Given the description of an element on the screen output the (x, y) to click on. 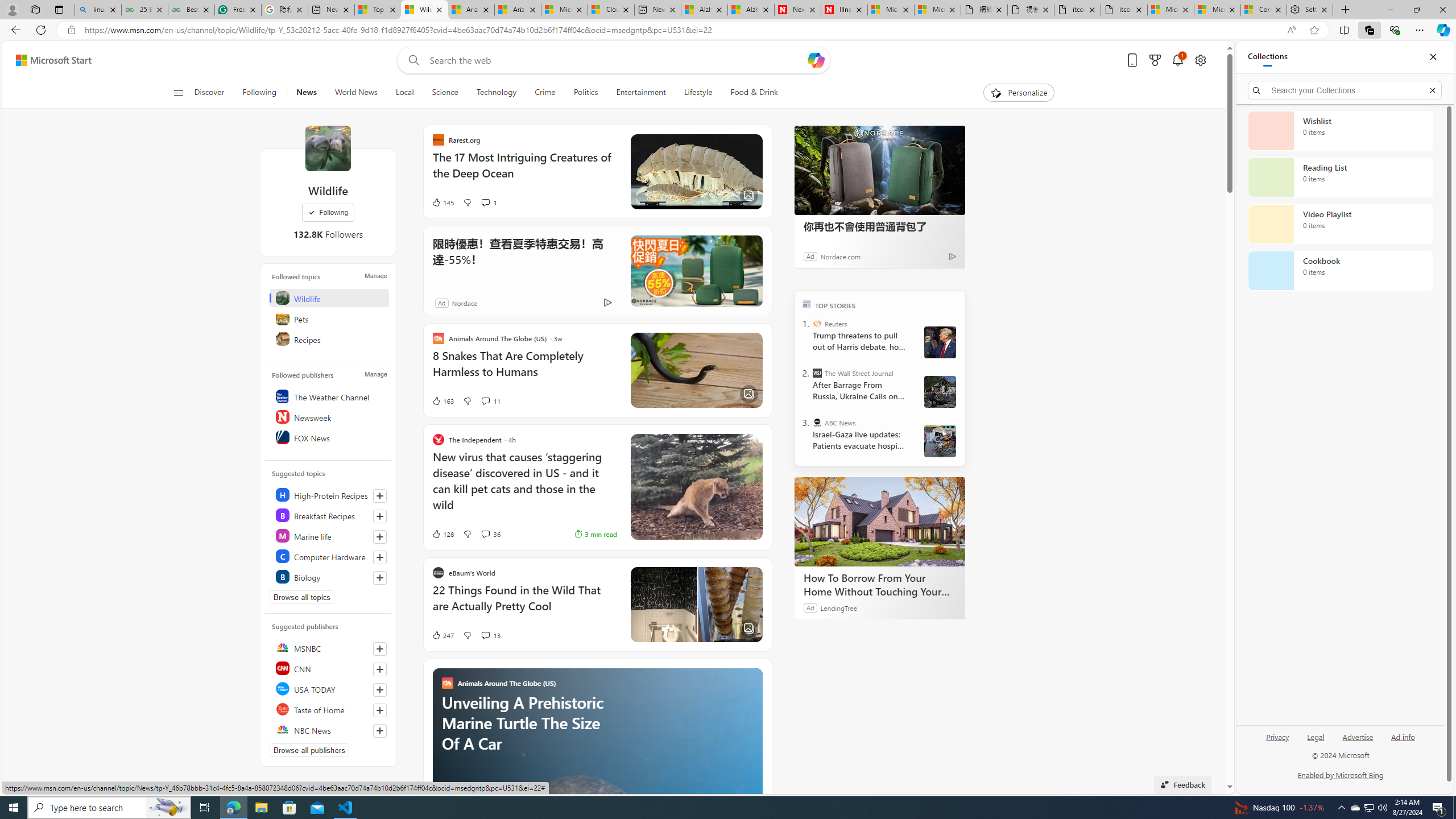
22 Things Found in the Wild That are Actually Pretty Cool (524, 603)
